Given the description of an element on the screen output the (x, y) to click on. 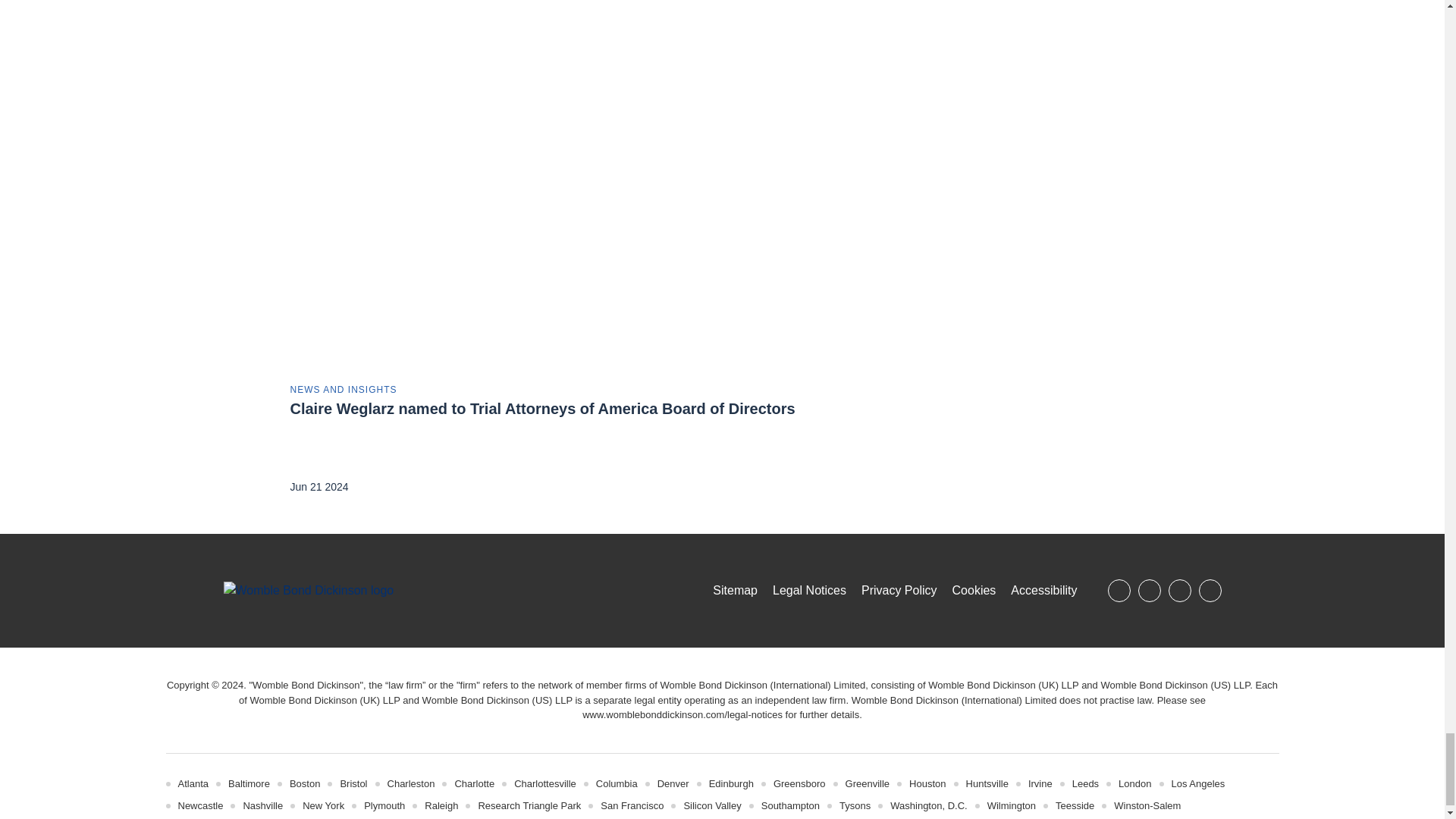
Edinburgh (731, 783)
Greensboro, NC, US (799, 783)
Denver, CO, US (673, 783)
Columbia, SC, US (616, 783)
Los Angeles, CA, US (1197, 783)
Houston, TX, US (926, 783)
Charlotte, NC, US (474, 783)
Boston, MA, US (304, 783)
Greenville, SC, US (867, 783)
Irvine, CA, US  (1039, 783)
Bristol (352, 783)
Leeds (1085, 783)
Charlottesville, VA, US (544, 783)
London (1134, 783)
Charleston, SC, US (411, 783)
